Given the description of an element on the screen output the (x, y) to click on. 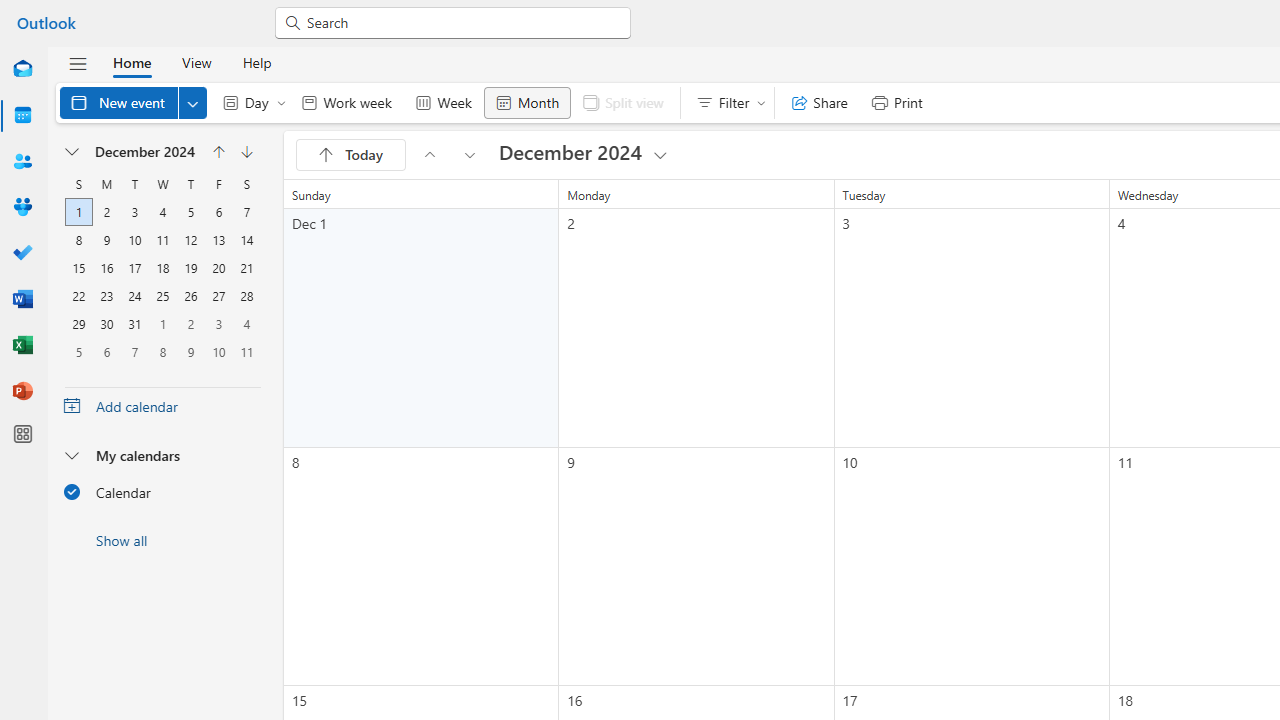
View (196, 61)
15, December, 2024 (79, 268)
Hide navigation pane (77, 63)
20, December, 2024 (218, 268)
2, December, 2024 (106, 211)
18, December, 2024 (162, 268)
1, January, 2025 (162, 323)
Go to next month January 2025 (470, 154)
9, December, 2024 (107, 240)
11, December, 2024 (163, 240)
29, December, 2024 (79, 323)
26, December, 2024 (191, 295)
27, December, 2024 (218, 296)
6, December, 2024 (218, 212)
30, December, 2024 (107, 323)
